Given the description of an element on the screen output the (x, y) to click on. 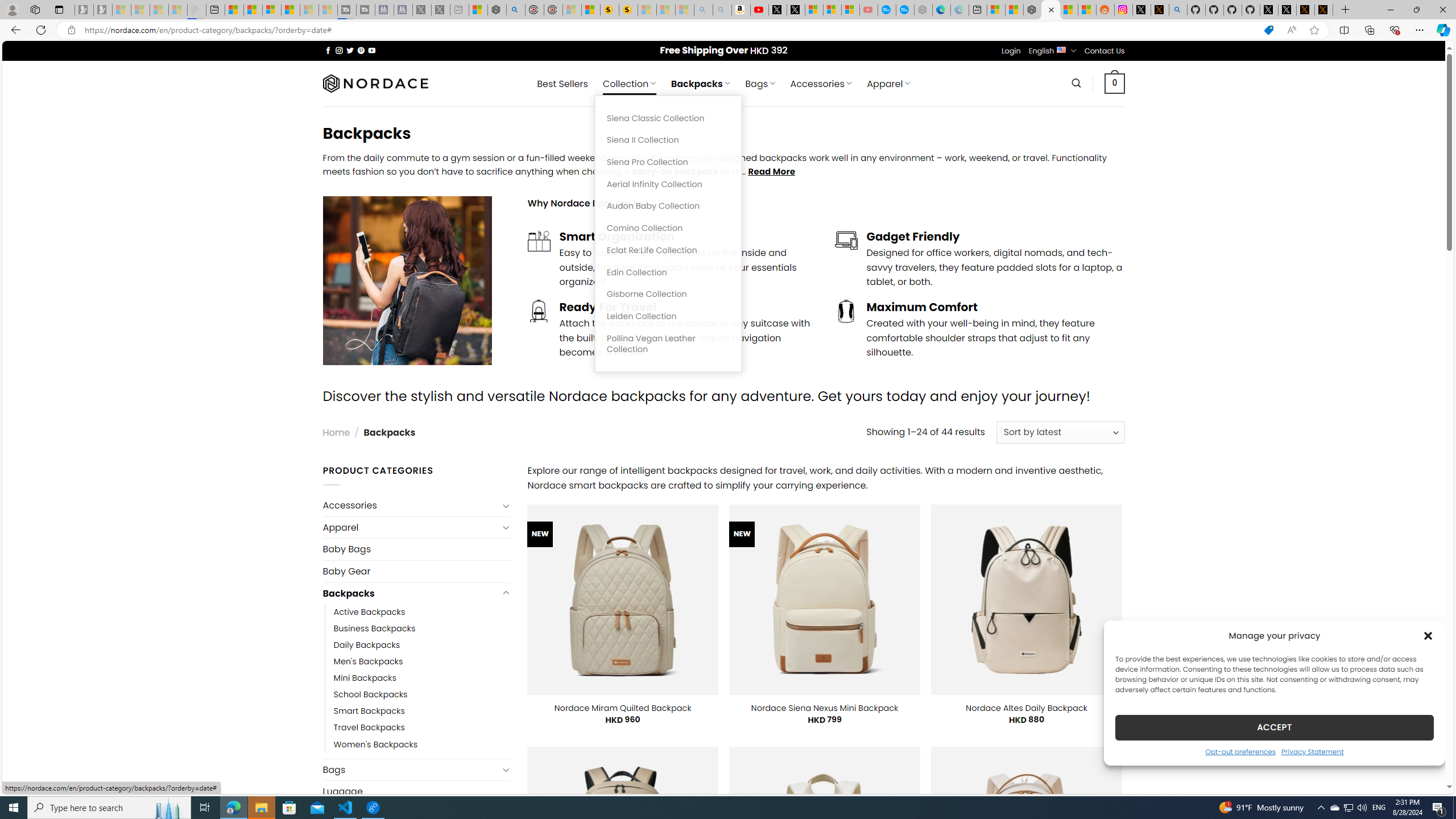
Streaming Coverage | T3 - Sleeping (347, 9)
Follow on YouTube (371, 49)
Gisborne Collection (668, 294)
Contact Us (1104, 50)
X Privacy Policy (1324, 9)
Microsoft account | Microsoft Account Privacy Settings (996, 9)
Mini Backpacks (364, 678)
Follow on Facebook (327, 49)
Nordace - Best Sellers (1032, 9)
Siena Classic Collection (668, 118)
Men's Backpacks (368, 661)
Travel Backpacks (368, 727)
Refresh (40, 29)
Close (1442, 9)
